Given the description of an element on the screen output the (x, y) to click on. 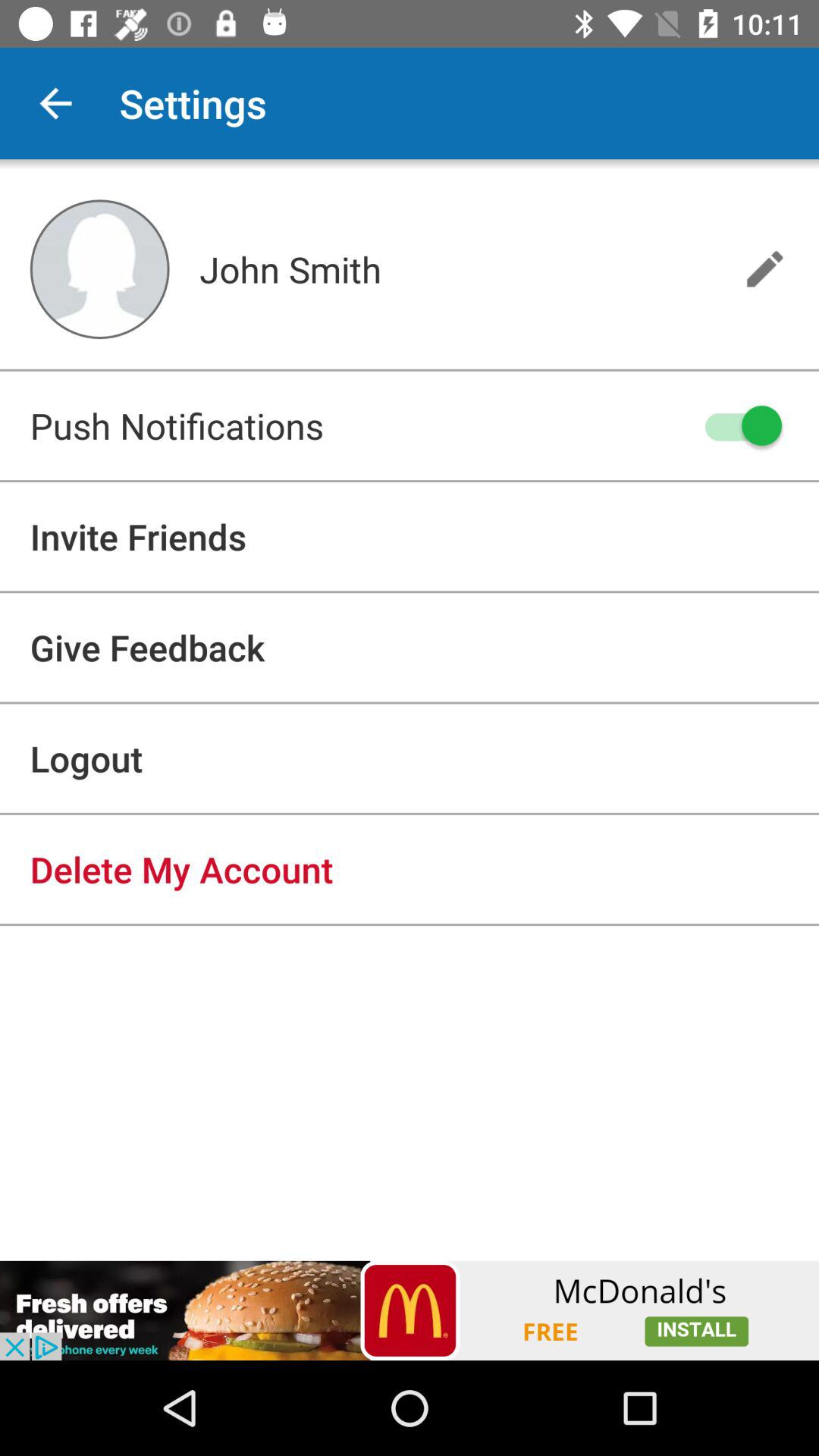
advertisement (409, 1310)
